Given the description of an element on the screen output the (x, y) to click on. 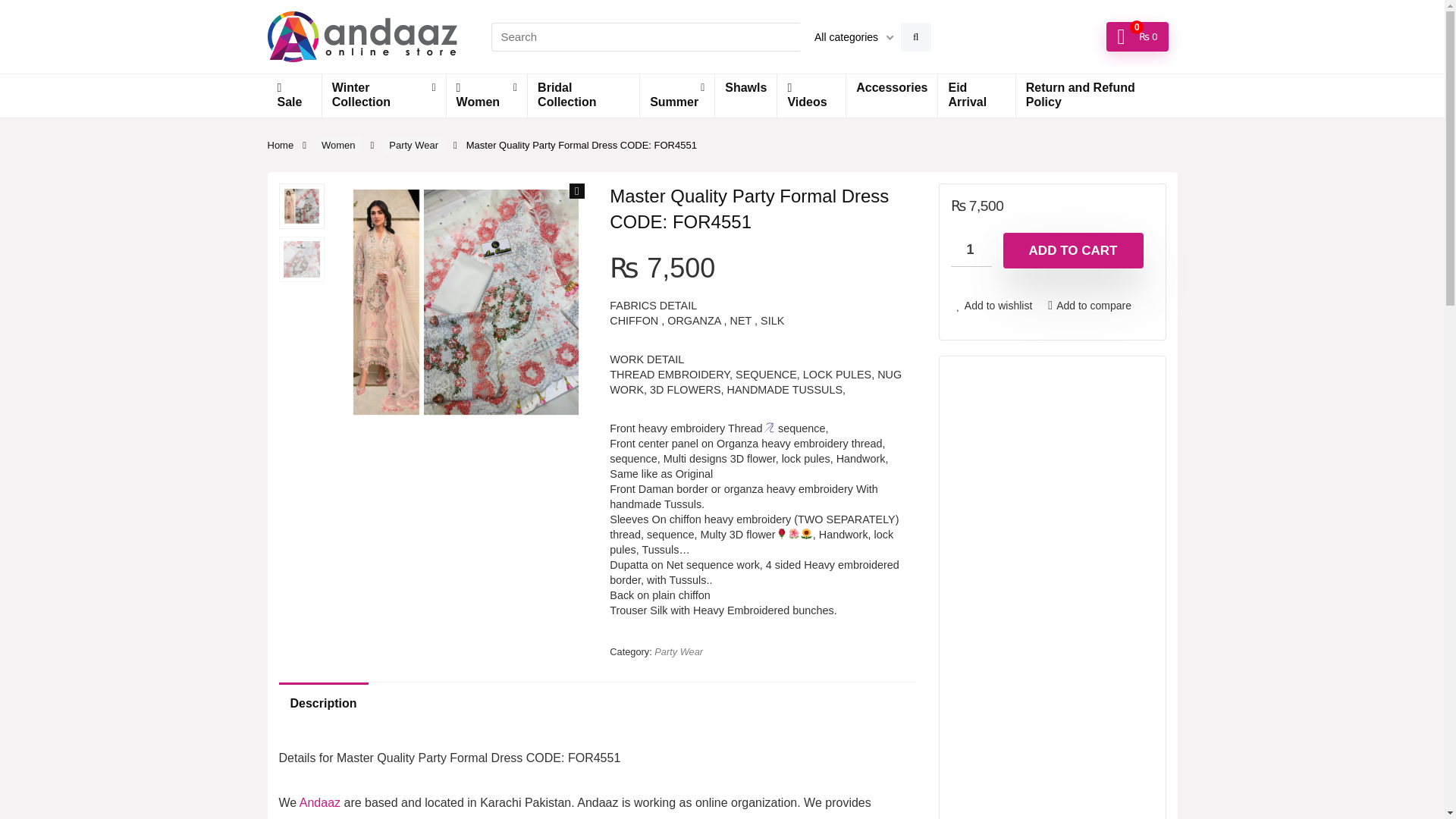
Summer (677, 95)
Winter Collection (383, 95)
Shawls (745, 88)
Description (597, 703)
Description (323, 703)
Home (280, 144)
Eid Arrival (975, 95)
Accessories (891, 88)
Bridal Collection (583, 95)
Return and Refund Policy (1096, 95)
